Given the description of an element on the screen output the (x, y) to click on. 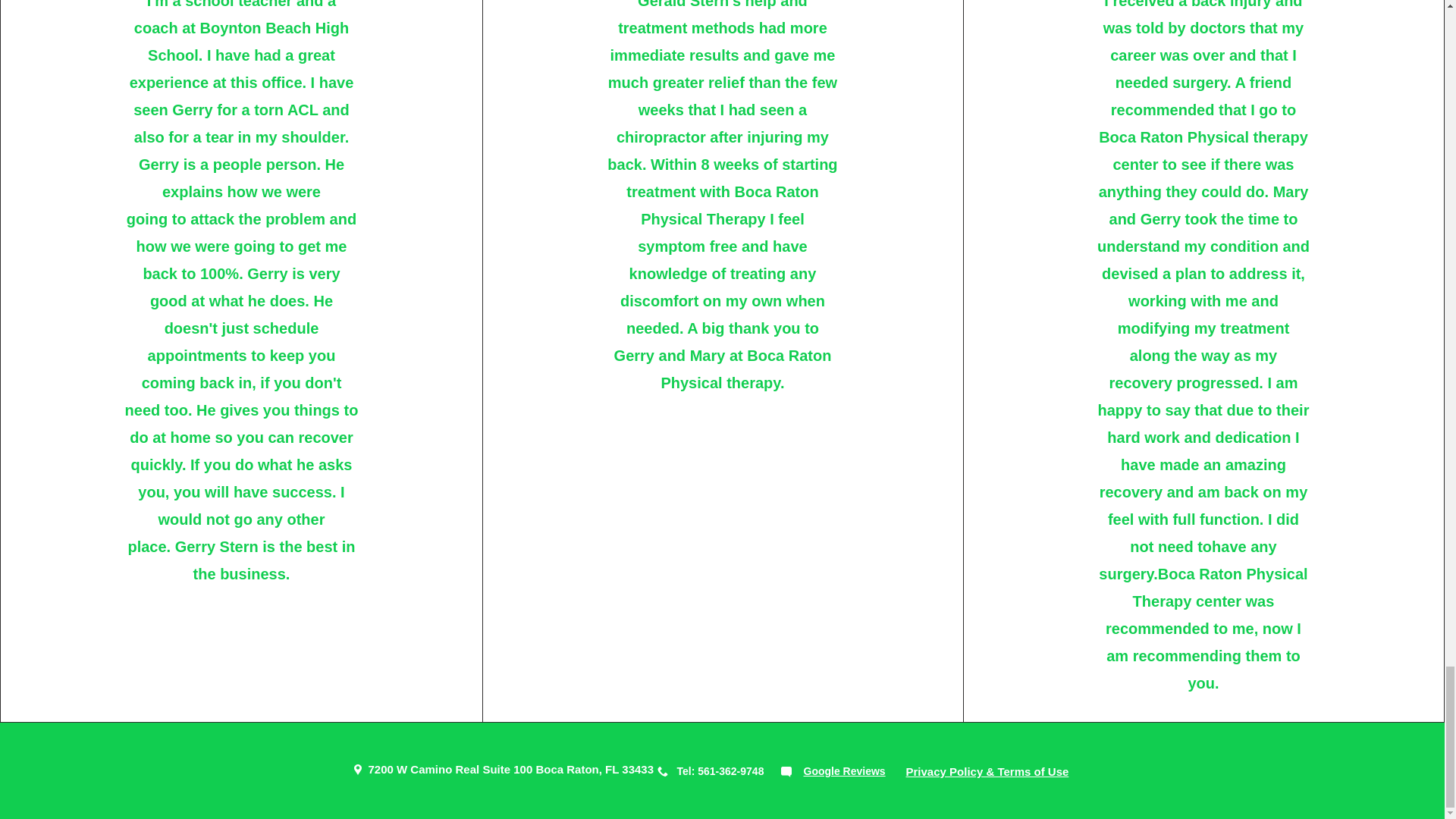
Google Reviews (844, 770)
